Given the description of an element on the screen output the (x, y) to click on. 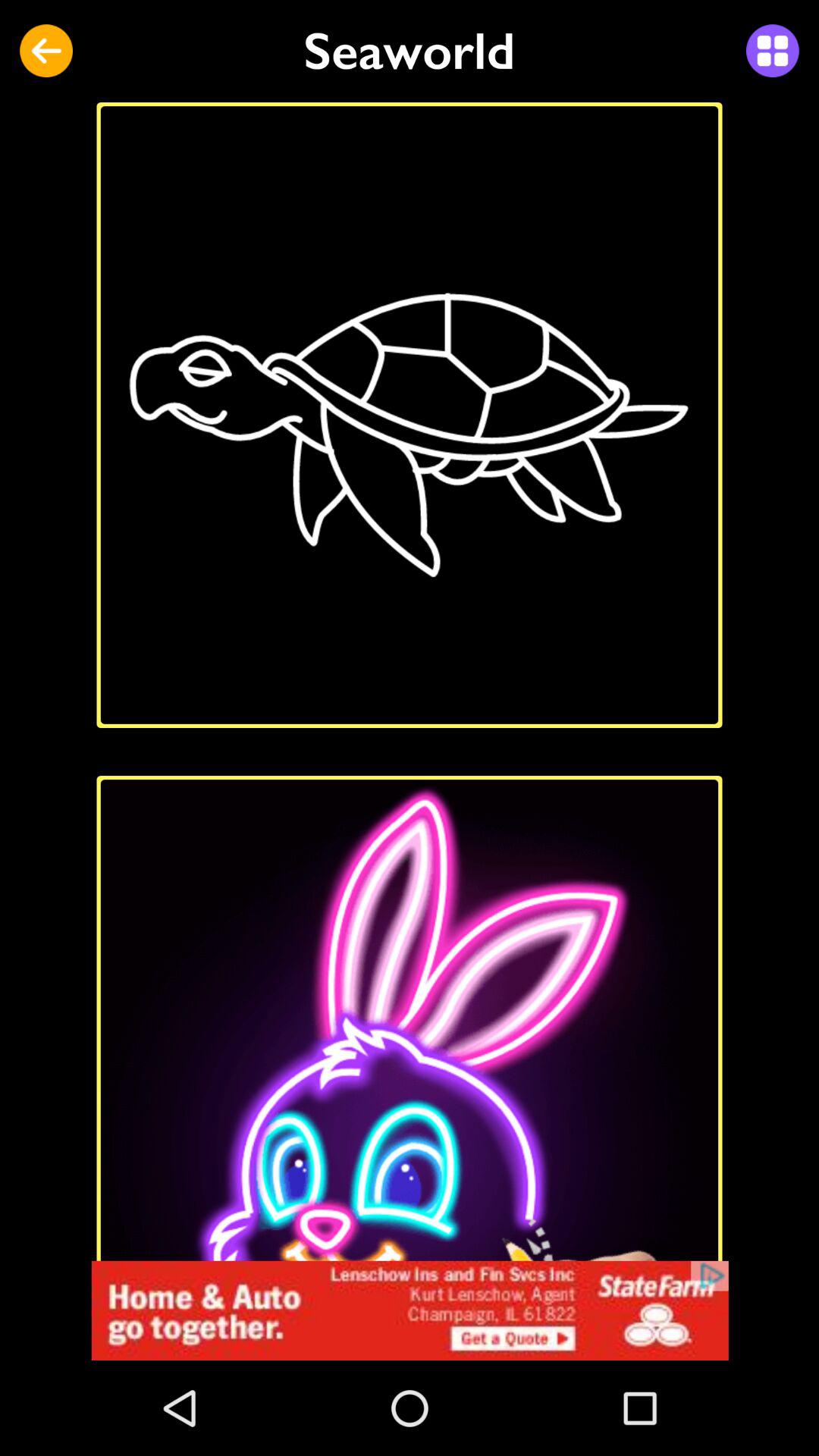
click icon at the top left corner (46, 50)
